Given the description of an element on the screen output the (x, y) to click on. 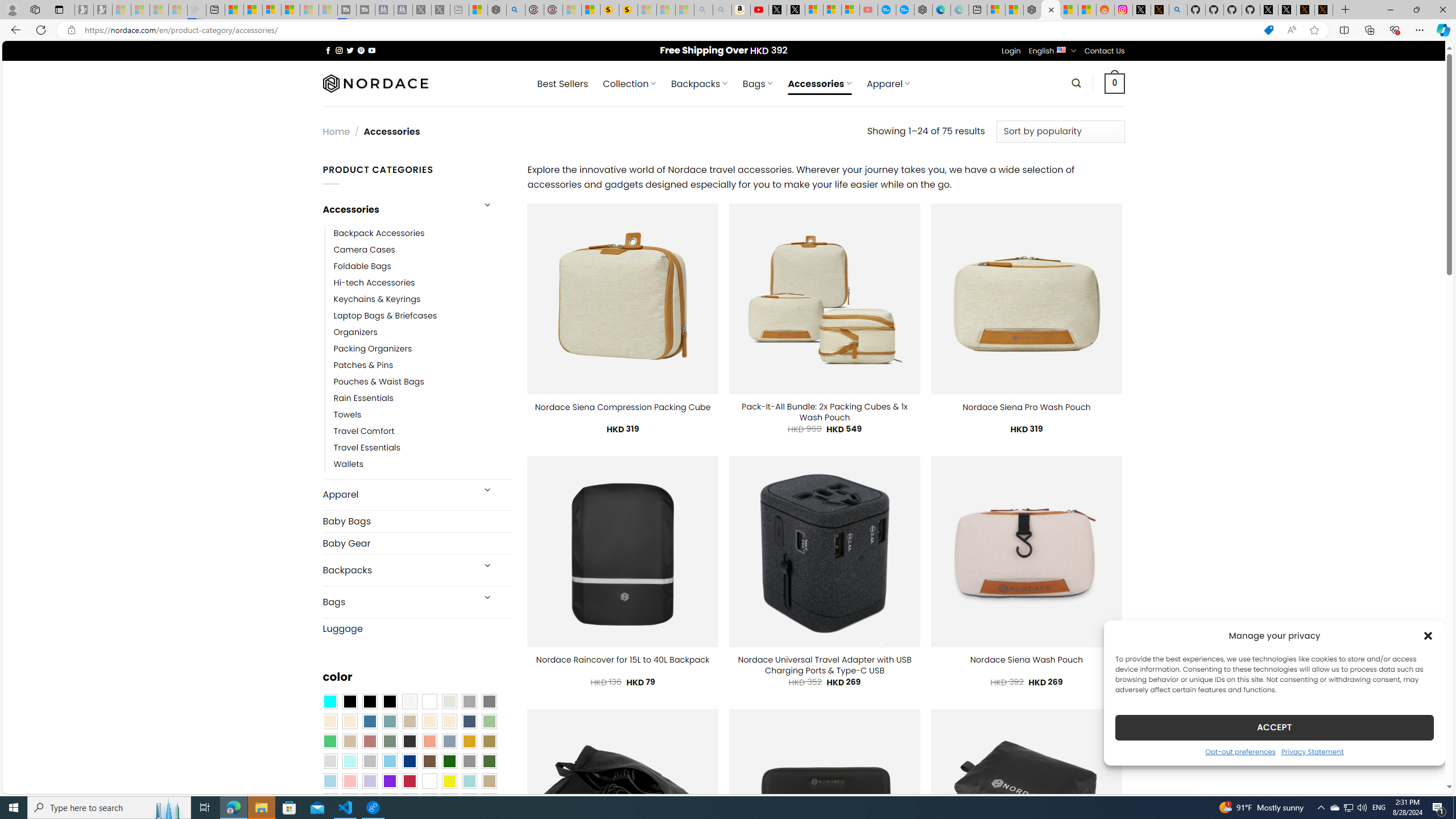
Wallets (422, 464)
Coral (429, 741)
Beige (329, 721)
Laptop Bags & Briefcases (384, 316)
Dark Green (449, 761)
Contact Us (1104, 50)
Patches & Pins (363, 365)
Nordace - Accessories (1050, 9)
